Given the description of an element on the screen output the (x, y) to click on. 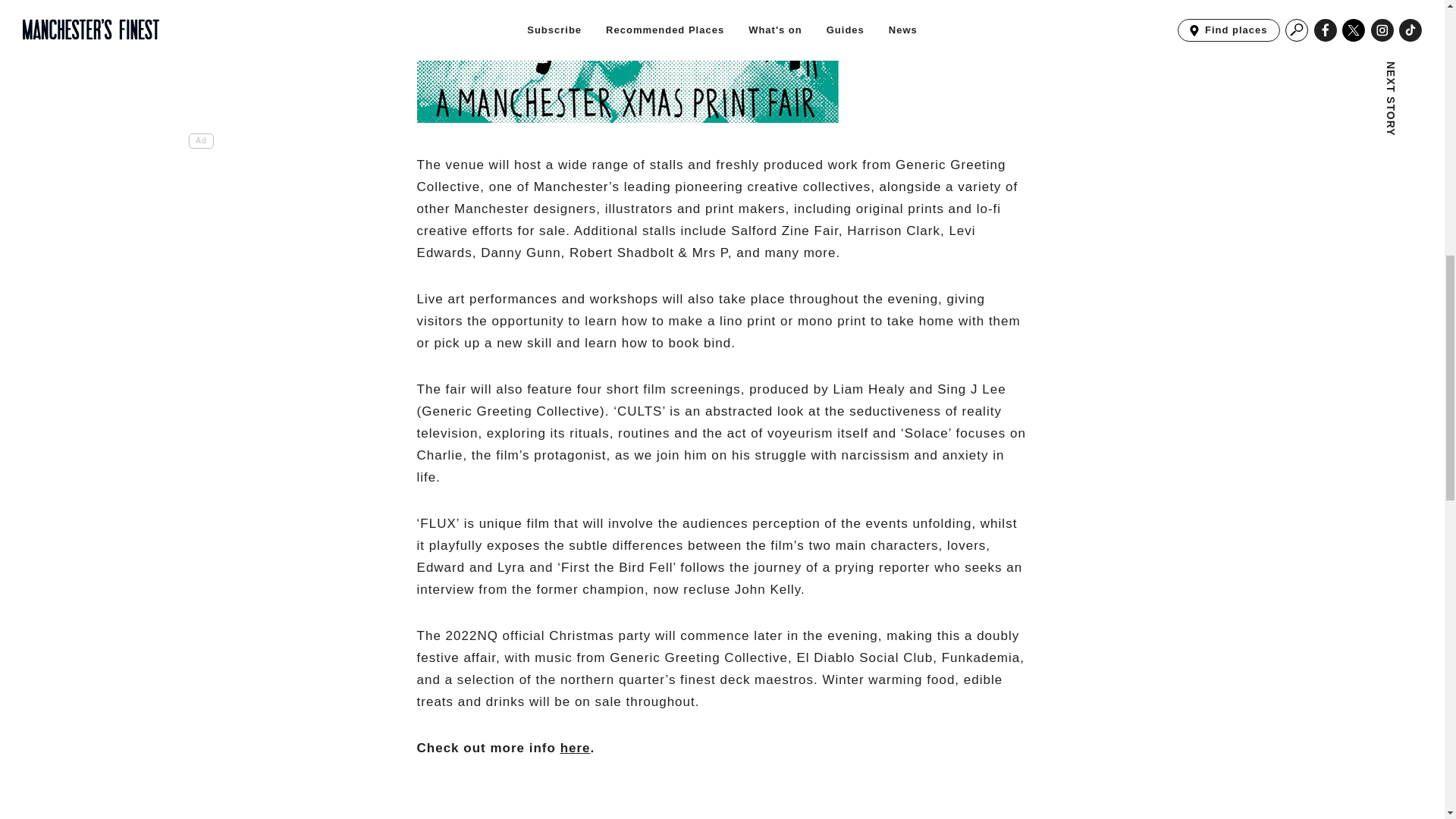
here (575, 747)
2022NQ-Christmas (627, 61)
